Given the description of an element on the screen output the (x, y) to click on. 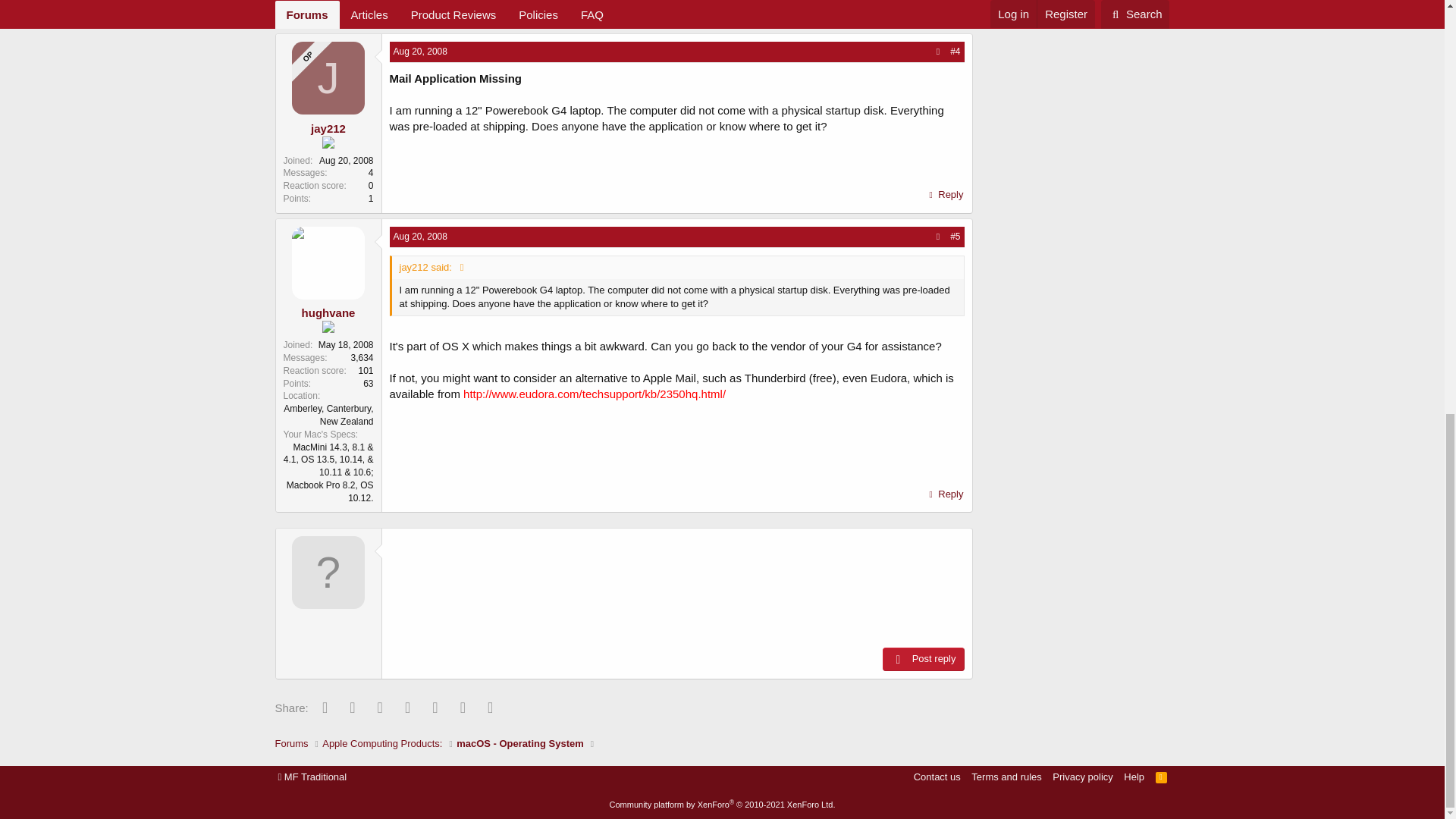
Aug 20, 2008 at 10:25 AM (419, 50)
RSS (1161, 776)
Reply, quoting this message (944, 10)
Style chooser (312, 776)
Reply, quoting this message (944, 194)
Aug 20, 2008 at 3:20 PM (419, 235)
Reply, quoting this message (944, 494)
